Given the description of an element on the screen output the (x, y) to click on. 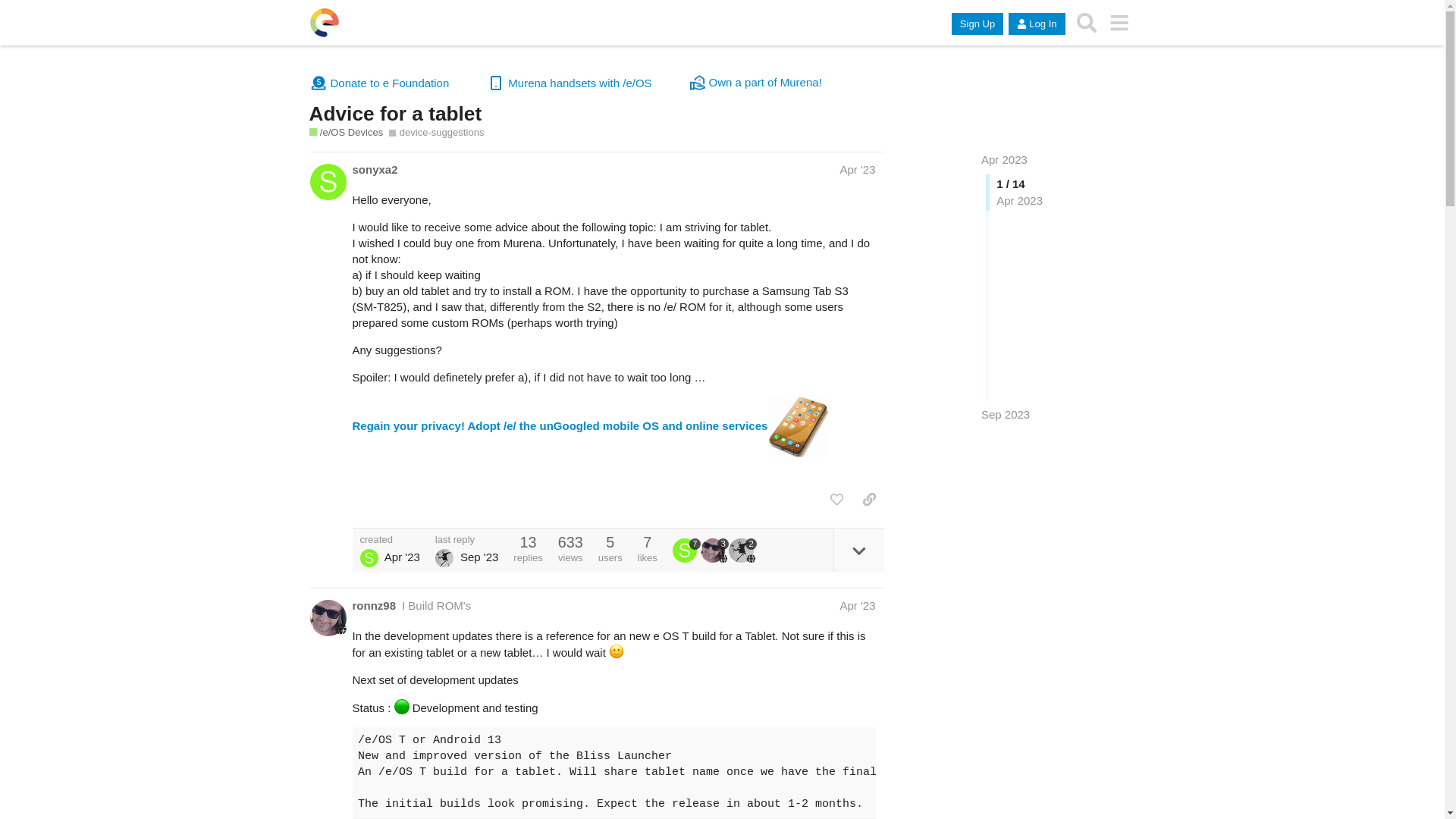
3 (714, 550)
sonyxa2 (374, 169)
sonyxa2 (686, 550)
Sep 9, 2023 10:45 pm (1005, 413)
Apr 24, 2023 8:37 pm (402, 556)
like this post (836, 499)
sonyxa2 (368, 557)
Own a part of Murena! (756, 82)
Apr 2023 (1004, 159)
ronnz98 (374, 605)
